Given the description of an element on the screen output the (x, y) to click on. 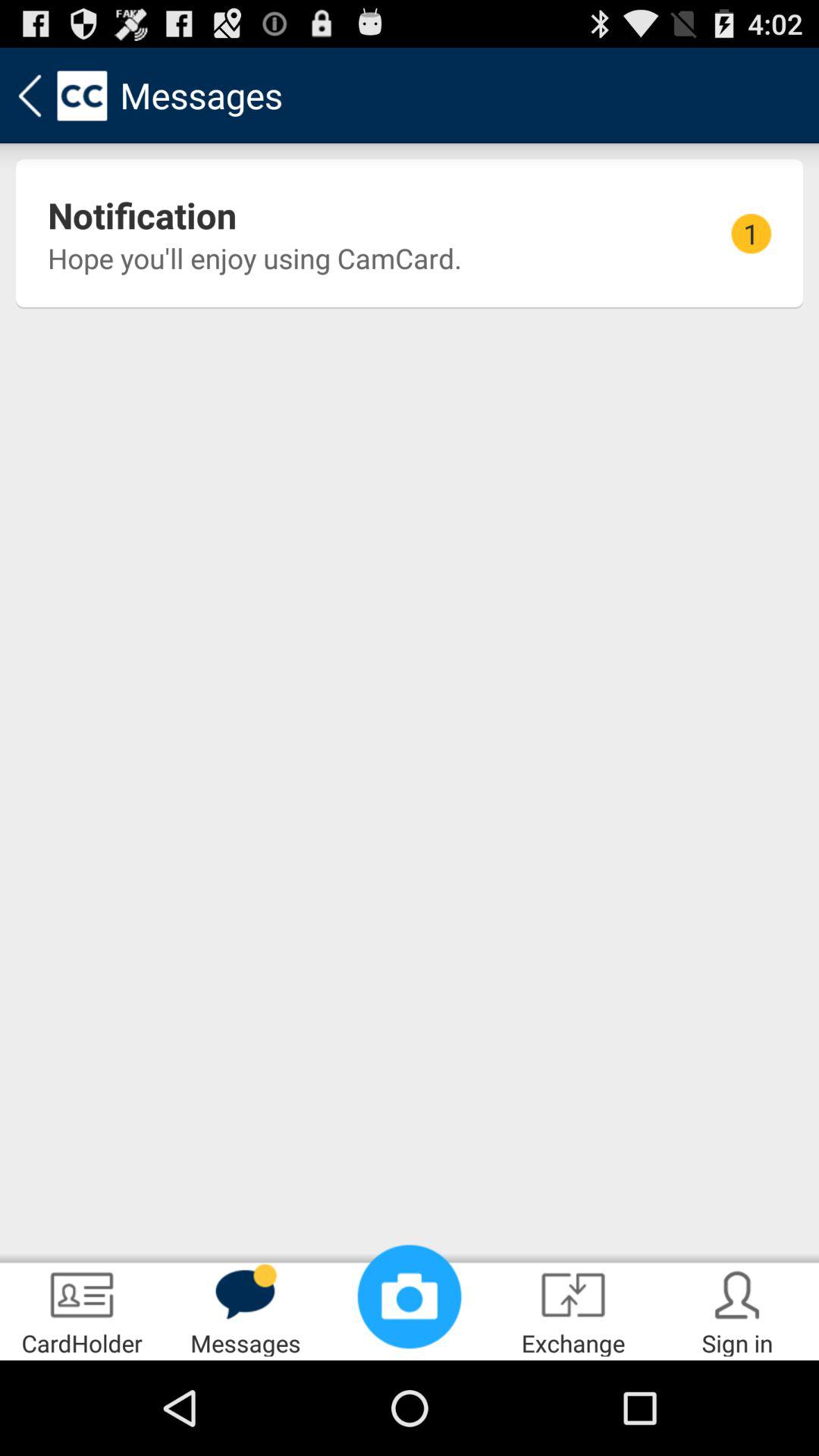
scroll until the sign in app (737, 1309)
